Given the description of an element on the screen output the (x, y) to click on. 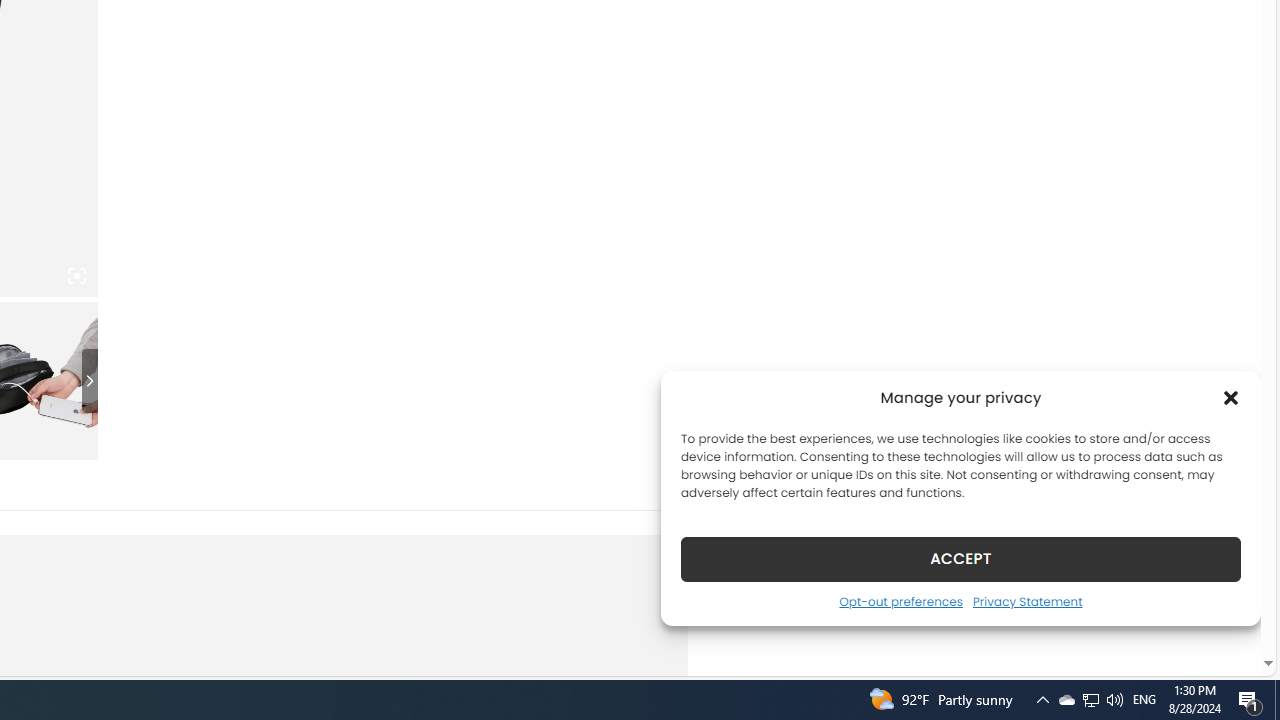
Class: iconic-woothumbs-fullscreen (75, 276)
Class: cmplz-close (1231, 397)
Privacy Statement (1026, 601)
Opt-out preferences (900, 601)
ACCEPT (960, 558)
